Given the description of an element on the screen output the (x, y) to click on. 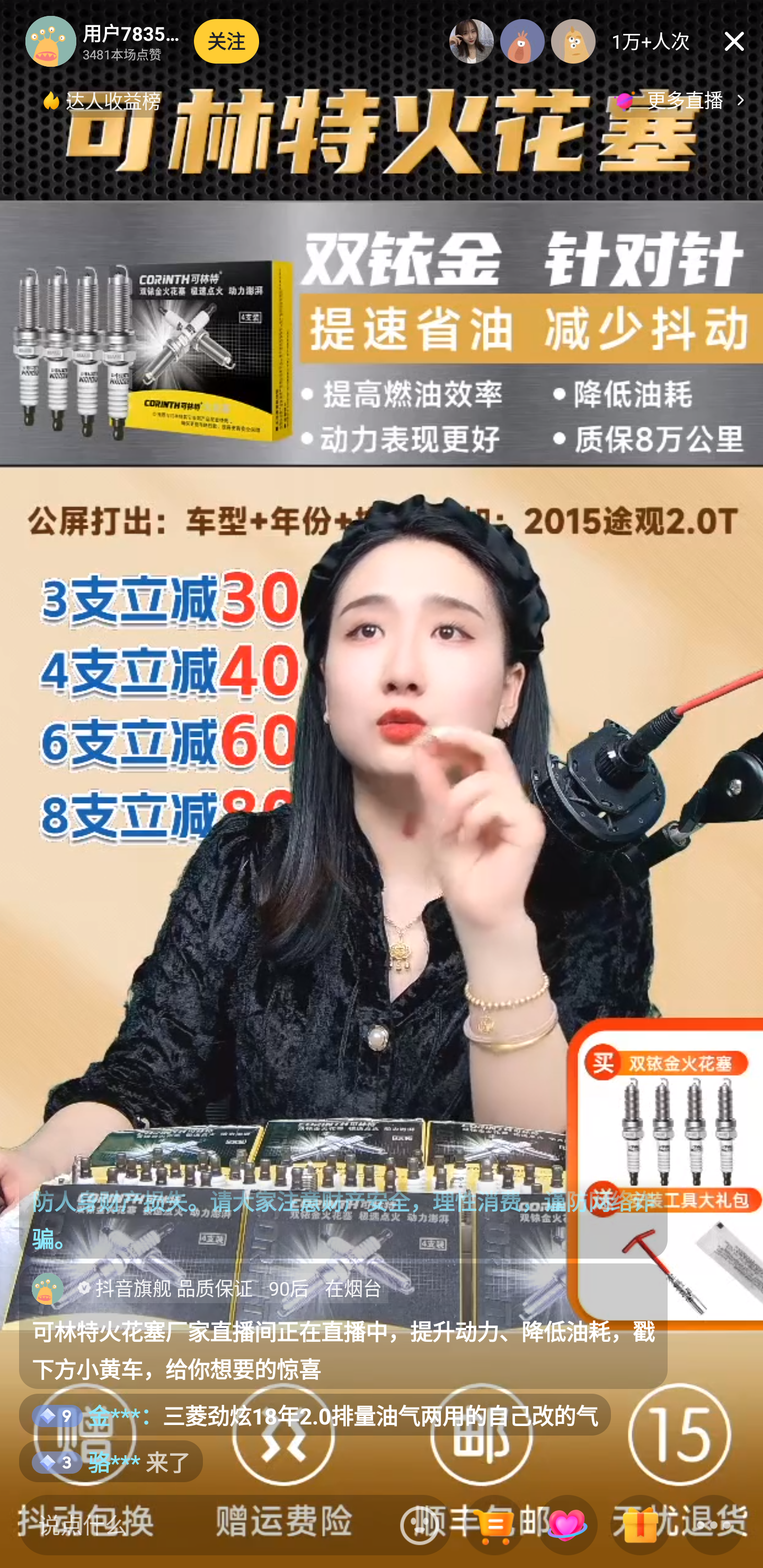
榜一 X*** (471, 41)
榜二 想*** (522, 41)
榜三 朋*** (572, 41)
1万+人次 (650, 41)
关注 (226, 41)
关闭 (733, 41)
达人收益榜，按钮 (102, 100)
更多直播 (682, 100)
* 金***：三菱劲炫18年2.0排量油气两用的自己改的气 (315, 1414)
* 骆*** 来了 (110, 1460)
说点什么 (205, 1524)
表情入口 (419, 1524)
商品列表 (493, 1526)
商品列表 (493, 1526)
小心心 (567, 1526)
礼物 (640, 1526)
更多面板 按钮 (713, 1526)
